Given the description of an element on the screen output the (x, y) to click on. 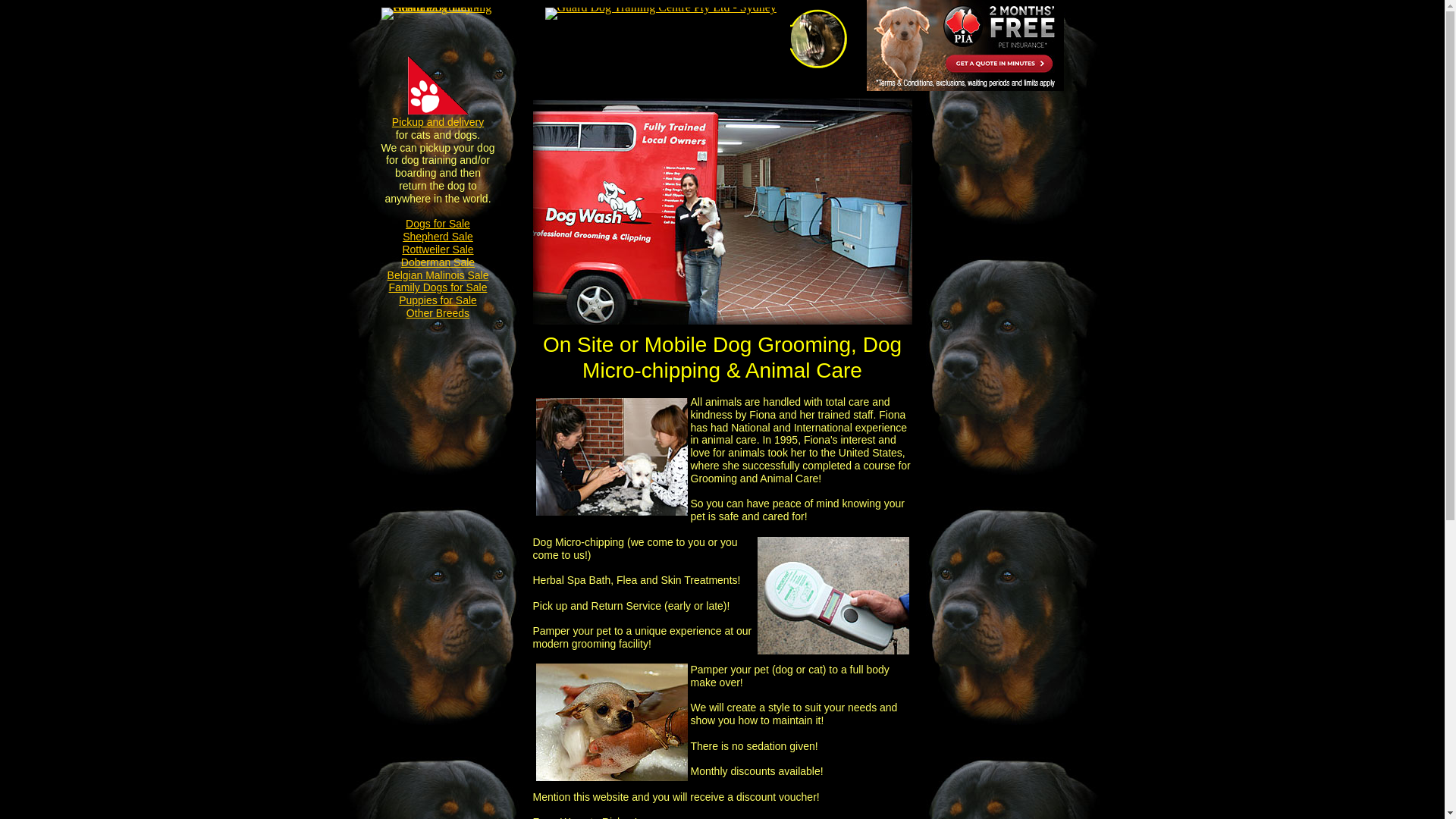
Dog Grooming Element type: hover (611, 456)
Dog and Cat Transport Element type: hover (437, 84)
Family Dogs for Sale Element type: text (438, 287)
Dog Micro-chipping Element type: hover (832, 595)
Puppies for Sale Element type: text (437, 300)
Other Breeds Element type: text (437, 313)
Doberman Sale Element type: text (437, 262)
Pet Insurance Australia Element type: hover (964, 45)
Belgian Malinois Sale Element type: text (438, 275)
Guard Dog Training Centre in Sydney Logo Element type: hover (659, 13)
Dog Grooming Element type: hover (611, 722)
Dogs for Sale Element type: text (437, 223)
Rottweiler Sale Element type: text (437, 249)
Shepherd Sale Element type: text (437, 236)
Guard Dog Training and Obedience Training in Sydney Element type: hover (819, 38)
Pickup and delivery Element type: text (437, 122)
Guard Dog Training Centre - Sydney - Australia Element type: hover (435, 13)
